Given the description of an element on the screen output the (x, y) to click on. 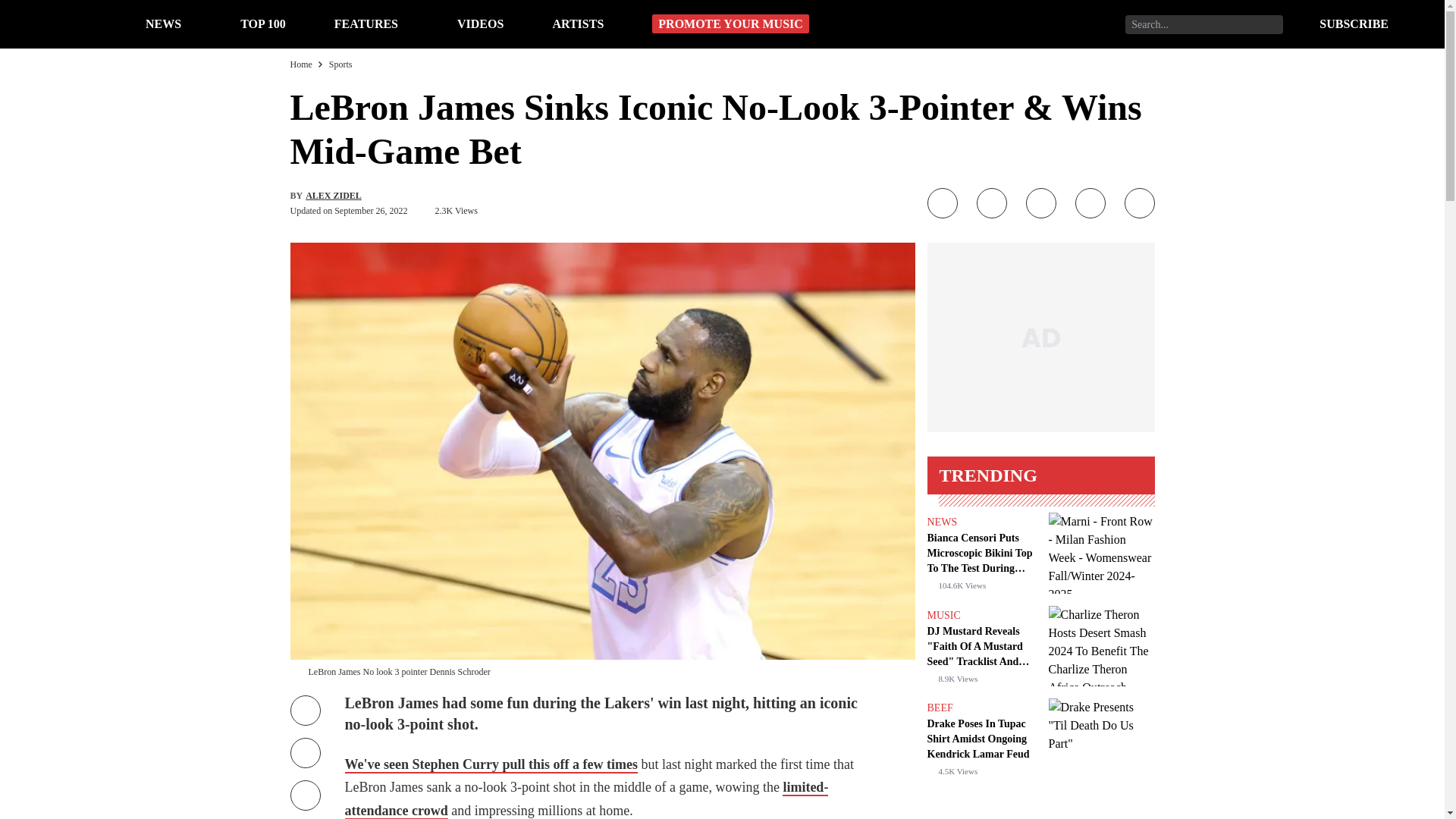
limited-attendance crowd (585, 799)
Sports (340, 63)
NEWS (941, 521)
We've seen Stephen Curry pull this off a few times (490, 764)
ALEX ZIDEL (333, 195)
September 26, 2022 (370, 210)
Home (300, 63)
